Given the description of an element on the screen output the (x, y) to click on. 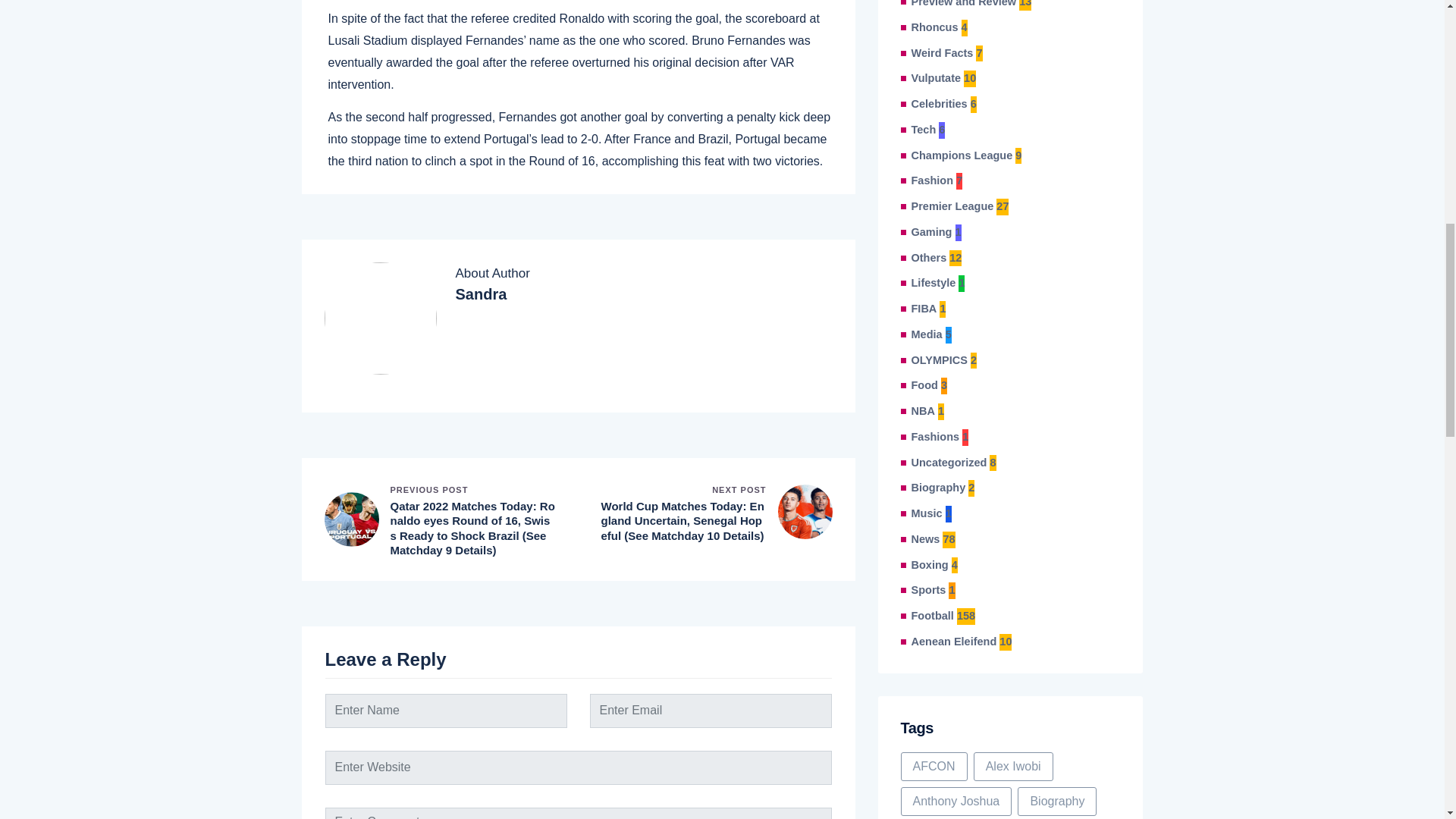
Weird Facts (942, 53)
Vulputate (935, 78)
Rhoncus (934, 27)
Preview and Review (963, 5)
